Given the description of an element on the screen output the (x, y) to click on. 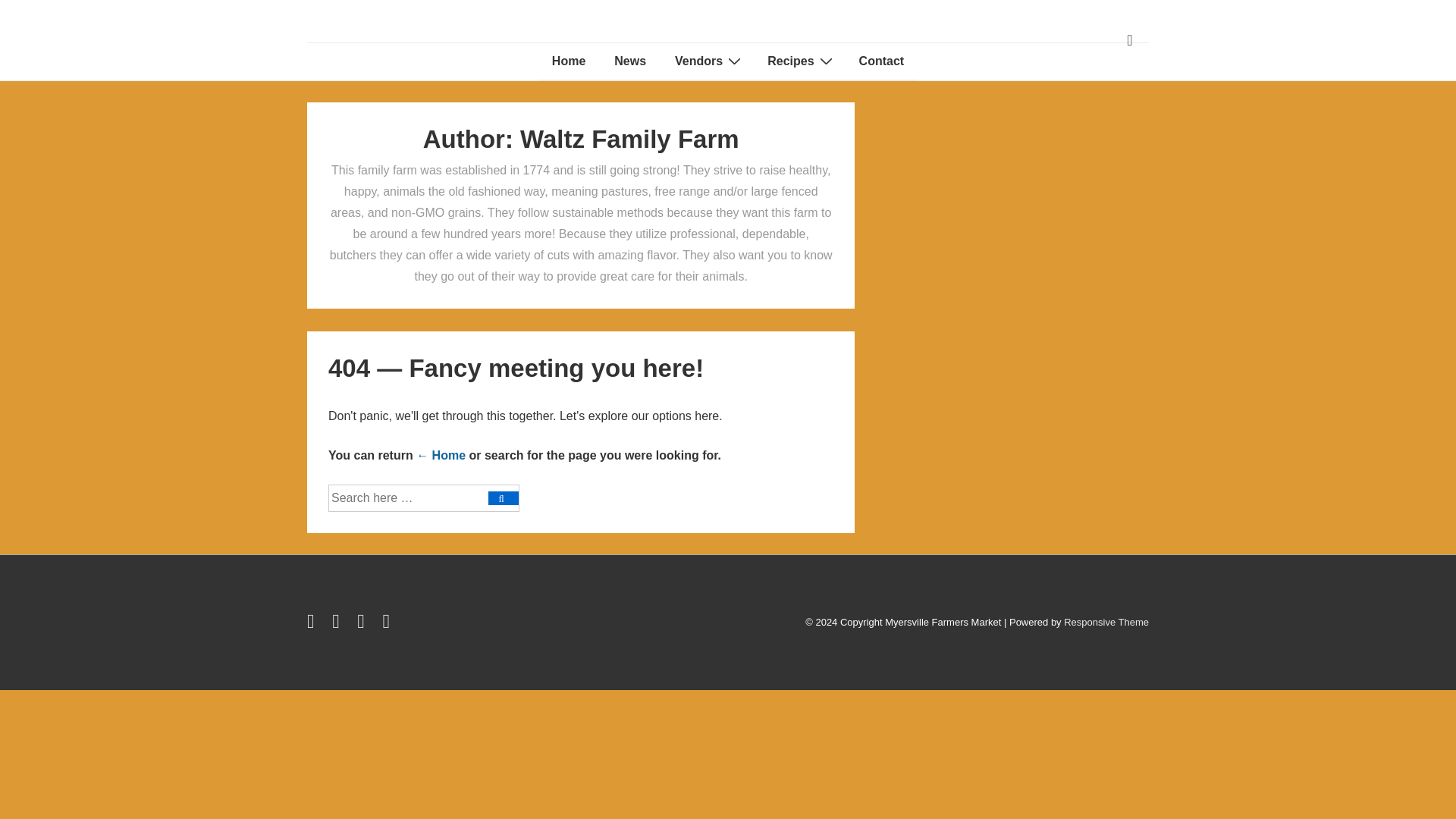
Home (440, 454)
MENU (1130, 40)
Vendors (706, 61)
Responsive Theme (1106, 621)
Contact (881, 61)
News (629, 61)
Search (502, 498)
email (387, 624)
Recipes (798, 61)
facebook (338, 624)
Home (568, 61)
instagram (363, 624)
twitter (313, 624)
